Given the description of an element on the screen output the (x, y) to click on. 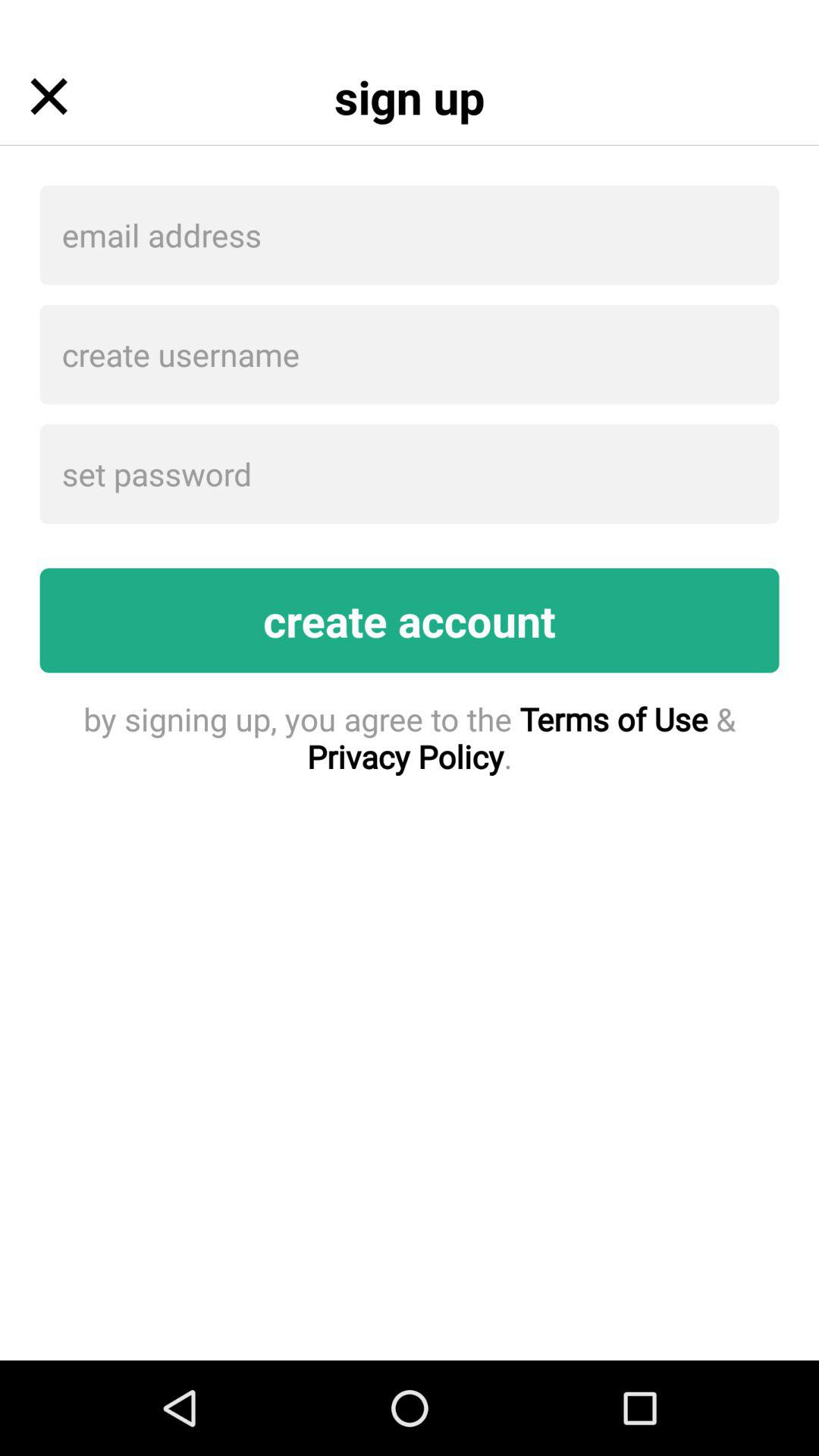
launch the item at the top left corner (48, 96)
